Given the description of an element on the screen output the (x, y) to click on. 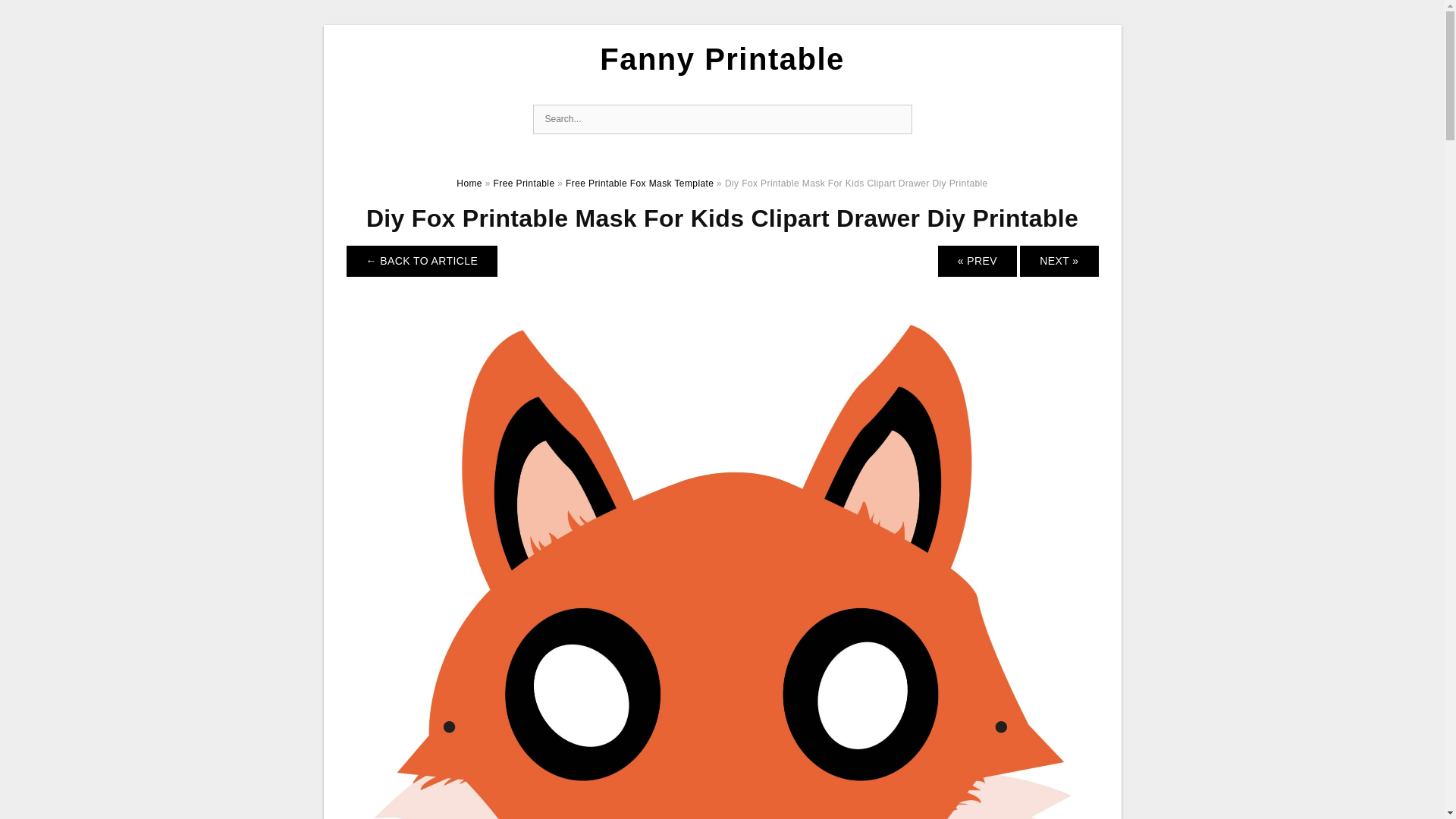
Search for: (721, 119)
Return to Free Printable Fox Mask Template (421, 260)
Home (469, 183)
Fanny Printable (721, 59)
Diy Fox Printable Mask For Kids Clipart Drawer Diy Printable (721, 777)
Search (895, 119)
Free Printable (523, 183)
Search (895, 119)
Free Printable Fox Mask Template (639, 183)
